Given the description of an element on the screen output the (x, y) to click on. 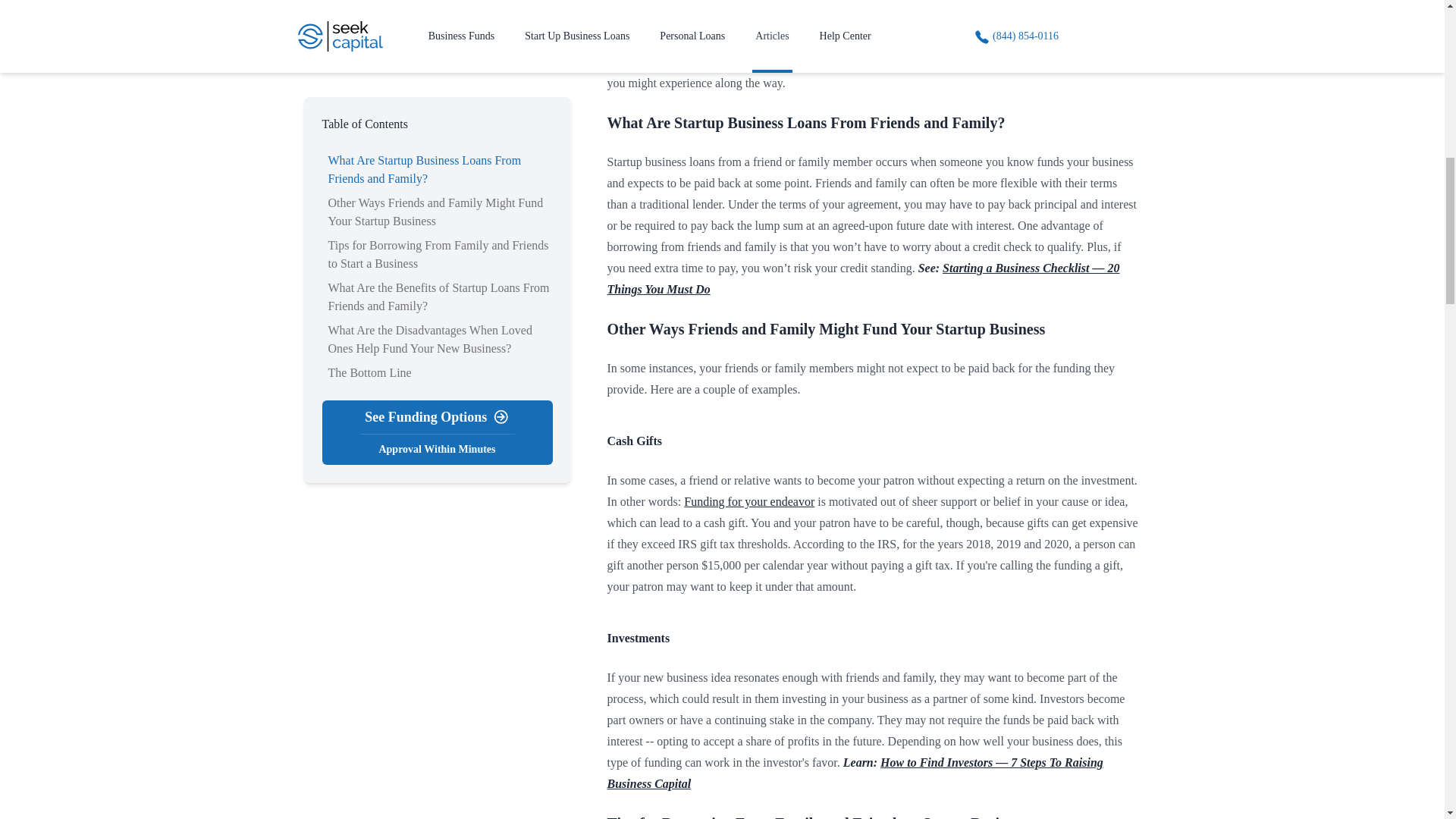
Cash Gifts (634, 440)
What Are Startup Business Loans From Friends and Family? (805, 122)
Funding for your endeavor (748, 501)
Investments (638, 637)
